Given the description of an element on the screen output the (x, y) to click on. 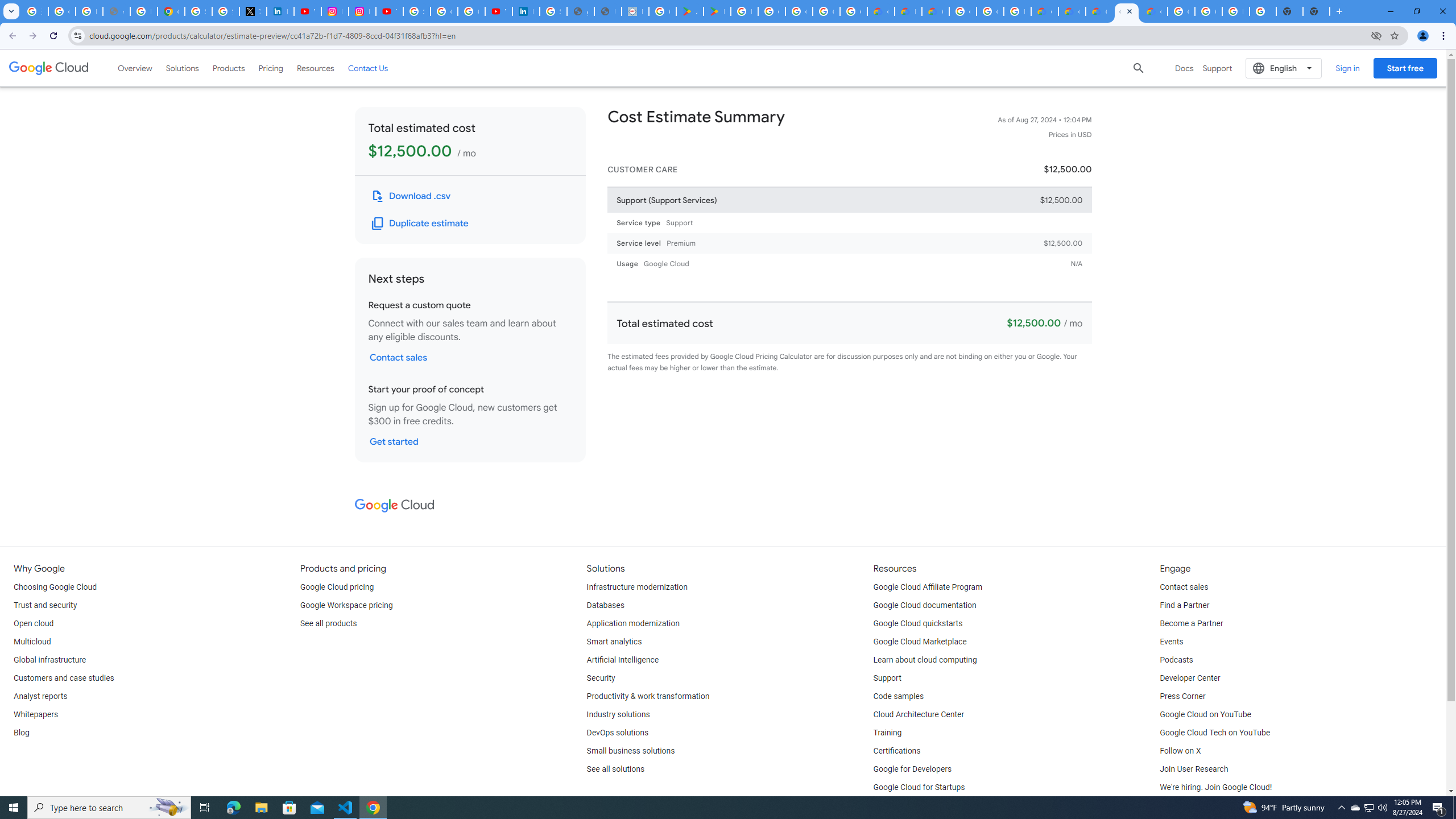
Google Cloud Affiliate Program (927, 587)
Solutions (181, 67)
Google Cloud (393, 505)
Products (228, 67)
Blog (21, 732)
Google Cloud on YouTube (1204, 714)
Resources (314, 67)
Become a Partner (1190, 624)
Google Cloud for Startups (919, 787)
